Given the description of an element on the screen output the (x, y) to click on. 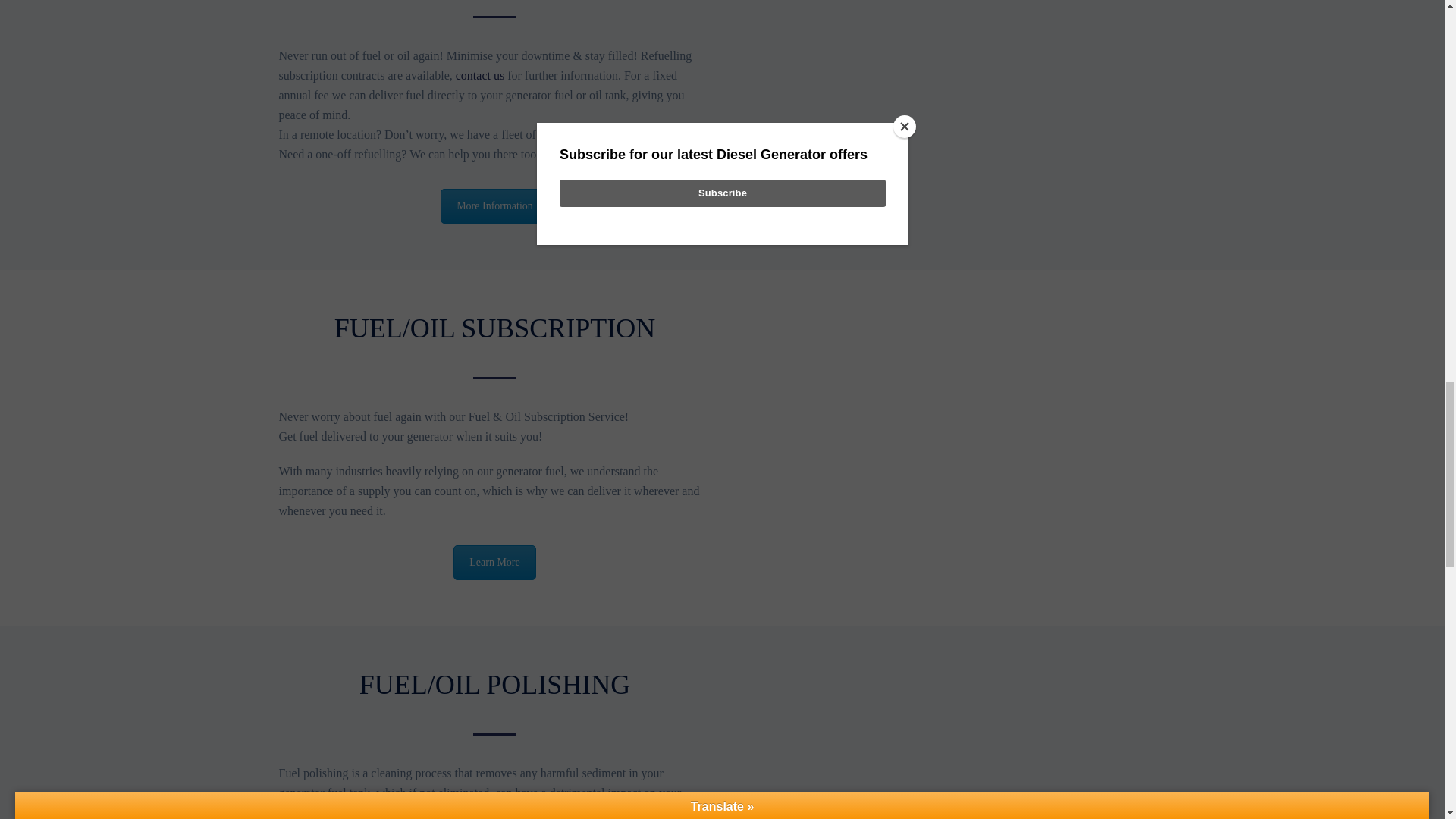
Contact Us (493, 562)
Contact Us (494, 206)
